Given the description of an element on the screen output the (x, y) to click on. 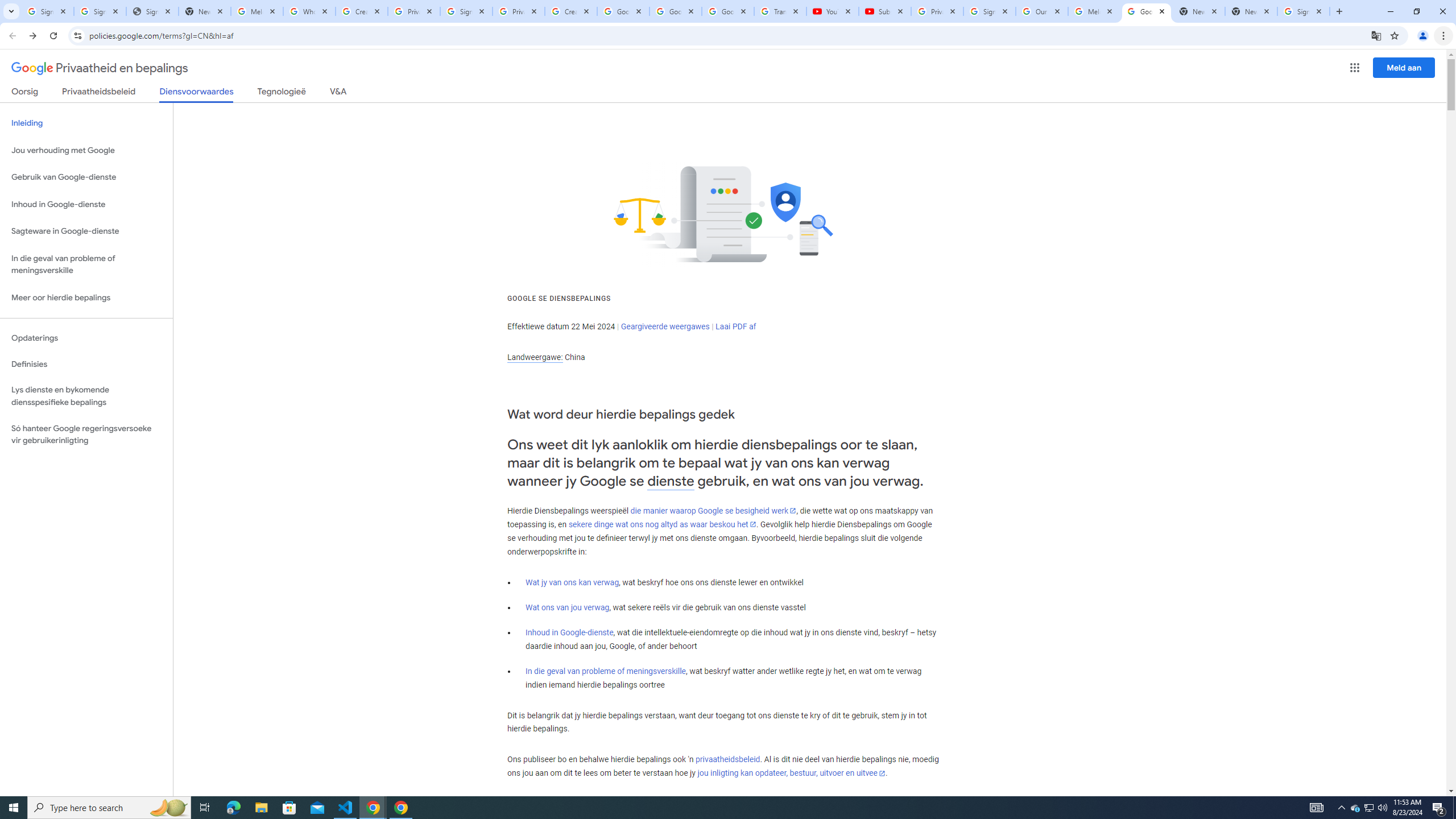
Inleiding (86, 122)
Oorsig (25, 93)
die manier waarop Google se besigheid werk (713, 510)
privaatheidsbeleid (727, 759)
Google-programme (1355, 67)
Google Account (727, 11)
Geargiveerde weergawes (665, 326)
dienste (670, 480)
sekere dinge wat ons nog altyd as waar beskou het (662, 524)
